Given the description of an element on the screen output the (x, y) to click on. 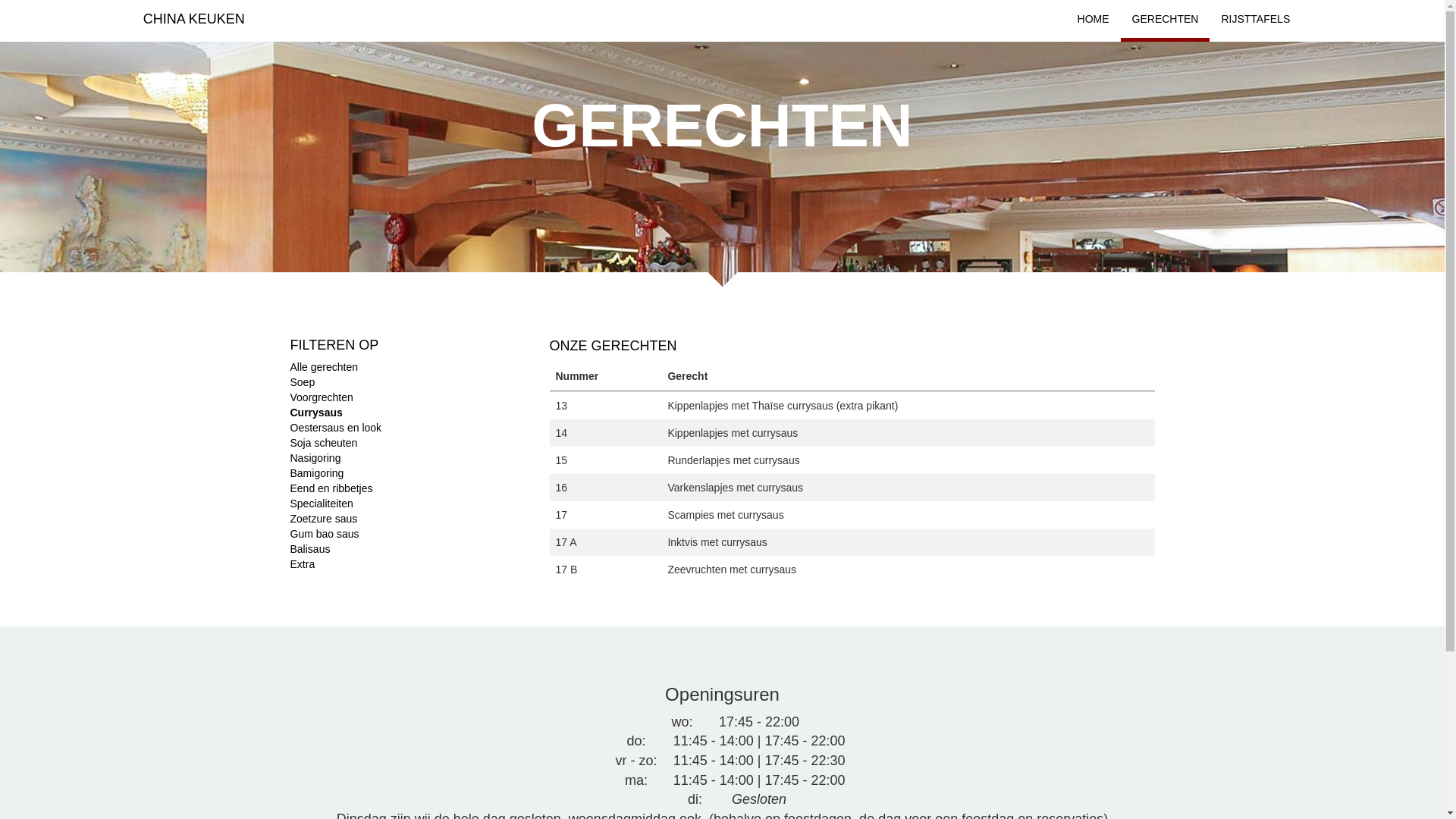
Currysaus Element type: text (315, 412)
Soep Element type: text (301, 382)
RIJSTTAFELS Element type: text (1255, 18)
Bamigoring Element type: text (316, 473)
Apply Element type: text (19, 9)
GERECHTEN Element type: text (1165, 18)
Overslaan en naar de inhoud gaan Element type: text (81, 0)
Specialiteiten Element type: text (320, 503)
Eend en ribbetjes Element type: text (330, 488)
Oestersaus en look Element type: text (335, 427)
Voorgrechten Element type: text (320, 397)
Gum bao saus Element type: text (323, 533)
HOME Element type: text (1093, 18)
Alle gerechten Element type: text (323, 366)
Extra Element type: text (301, 564)
Nasigoring Element type: text (314, 457)
CHINA KEUKEN Element type: text (193, 18)
Zoetzure saus Element type: text (323, 518)
Soja scheuten Element type: text (323, 442)
Balisaus Element type: text (309, 548)
